Given the description of an element on the screen output the (x, y) to click on. 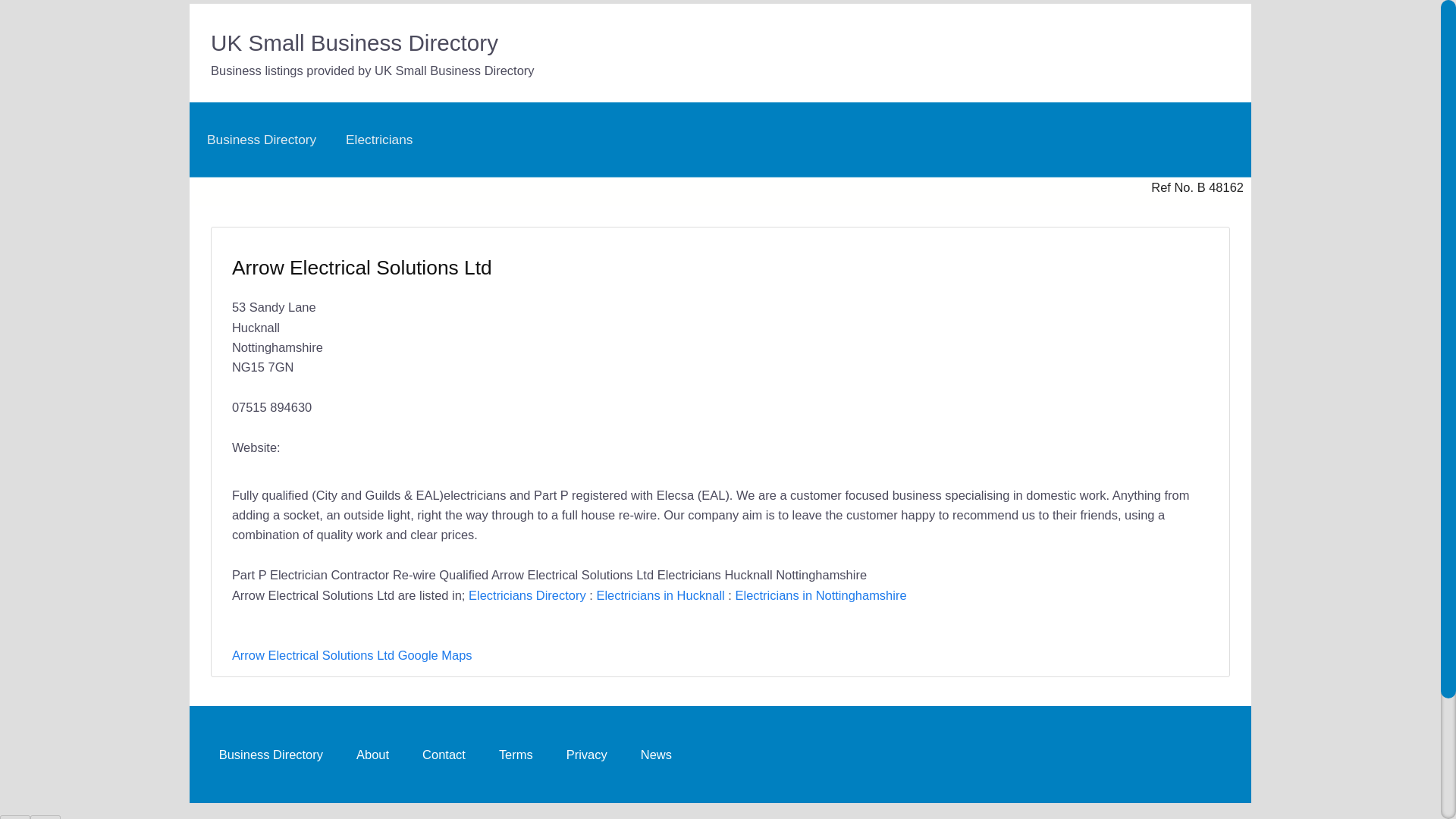
Business Directory (261, 139)
Electricians in Hucknall (659, 594)
Arrow Electrical Solutions Ltd Google Maps (351, 654)
Electricians in Nottinghamshire (820, 594)
Contact (444, 754)
Advertisement (956, 345)
News (656, 754)
Electricians (379, 139)
About (372, 754)
Business Directory (270, 754)
